Given the description of an element on the screen output the (x, y) to click on. 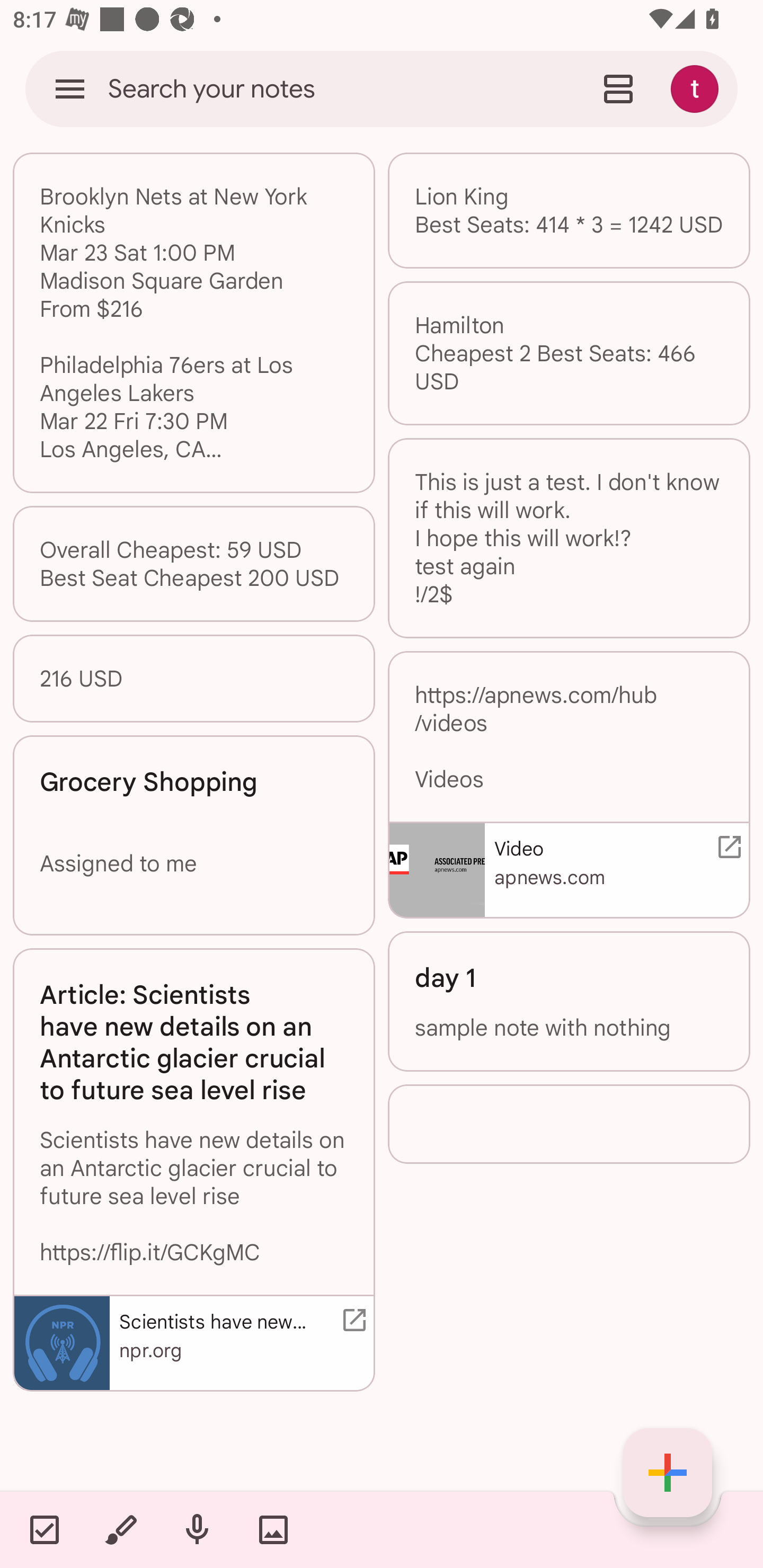
Open navigation drawer (70, 88)
Single-column view (617, 88)
Account and settings. (696, 88)
216 USD.  216 USD (193, 678)
Link preview popout (726, 846)
.  (568, 1124)
Link preview popout (350, 1320)
New text note (667, 1472)
New list (44, 1529)
New drawing note (120, 1529)
New audio note (196, 1529)
New photo note (273, 1529)
